Given the description of an element on the screen output the (x, y) to click on. 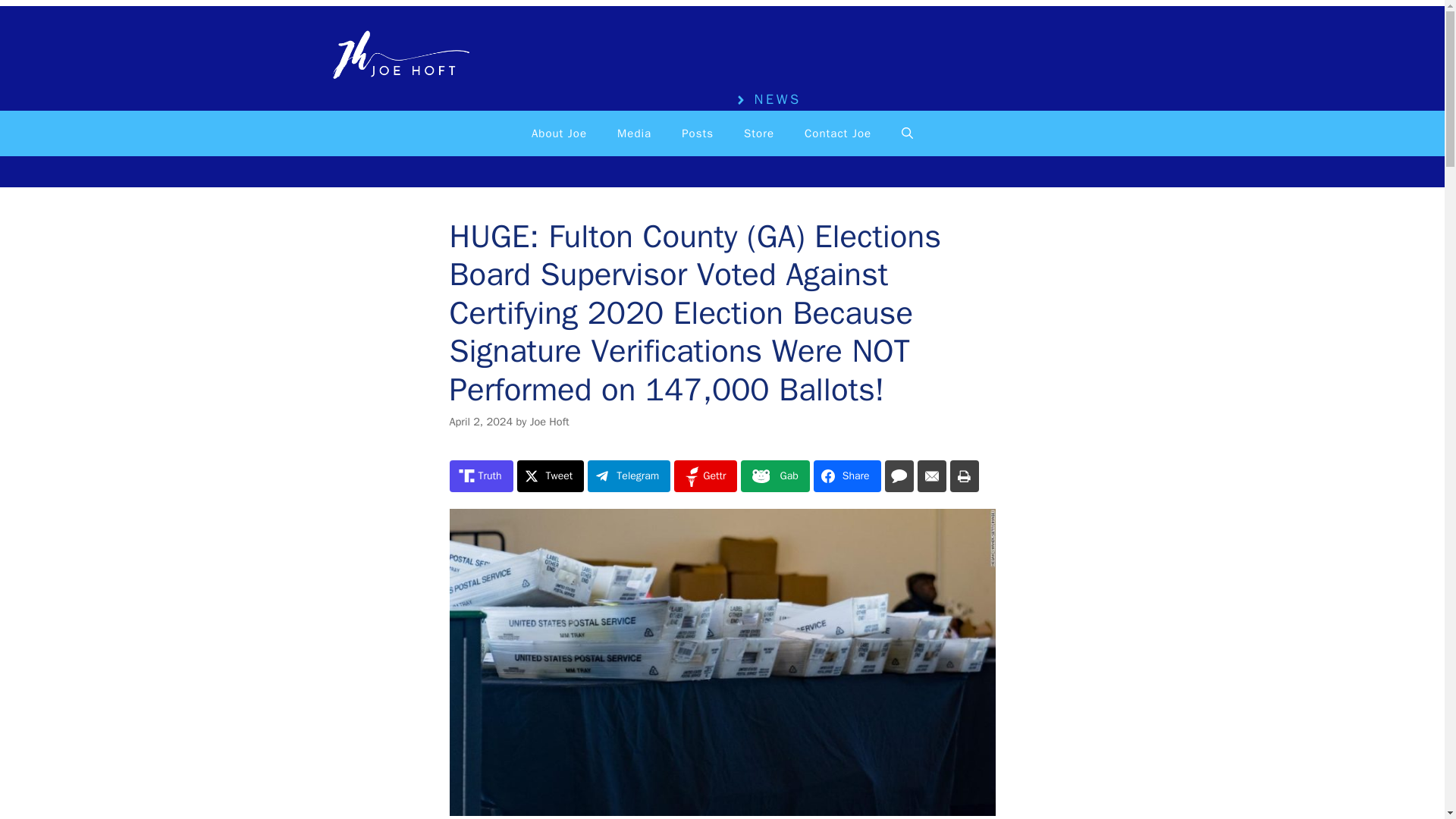
Share on Share (846, 476)
Gettr (705, 476)
Telegram (628, 476)
About Joe (559, 133)
Joe Hoft (549, 421)
Joe Hoft (396, 57)
Share on Telegram (628, 476)
Share (846, 476)
Contact Joe (837, 133)
